Given the description of an element on the screen output the (x, y) to click on. 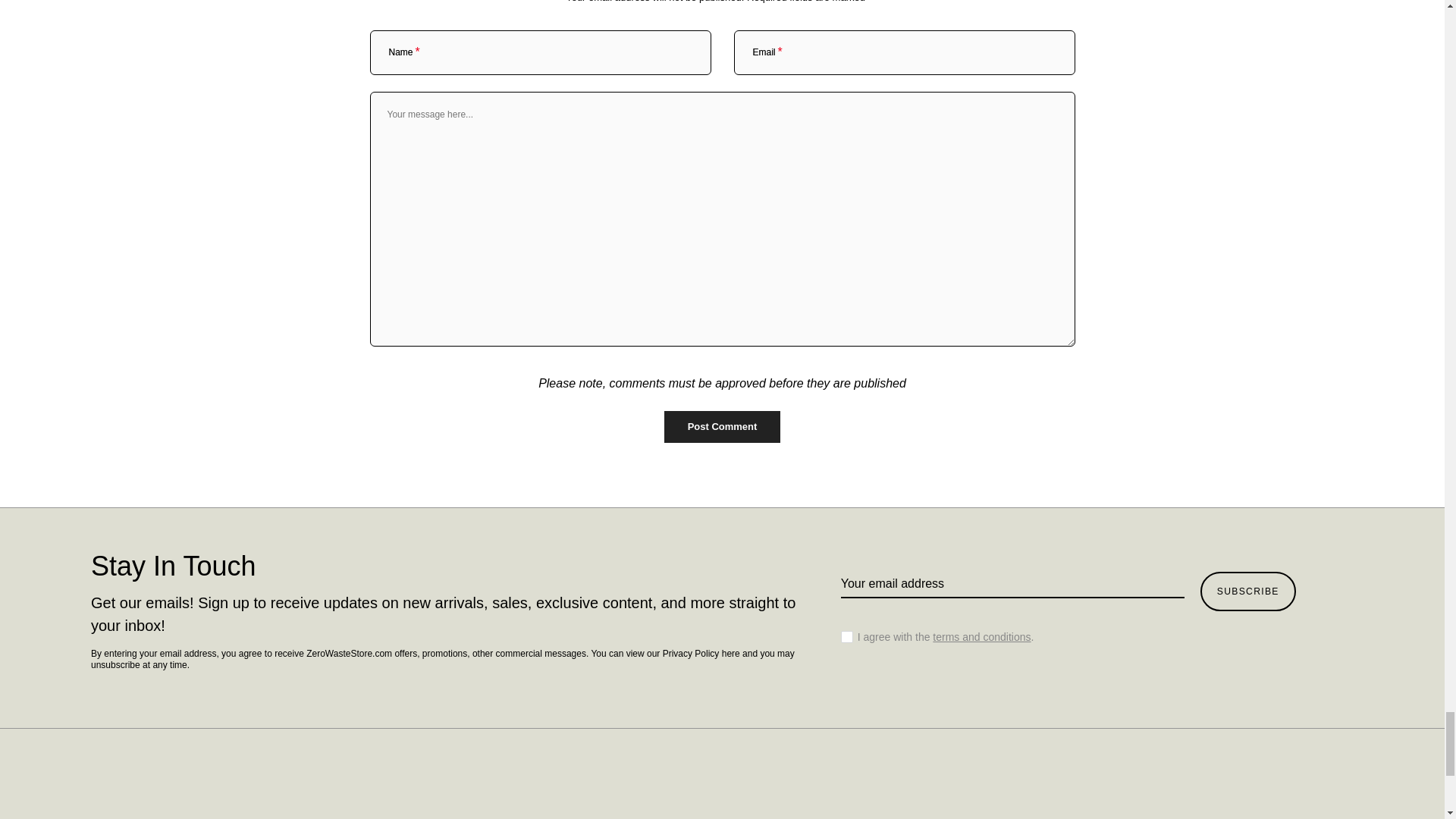
Post Comment (721, 427)
